Given the description of an element on the screen output the (x, y) to click on. 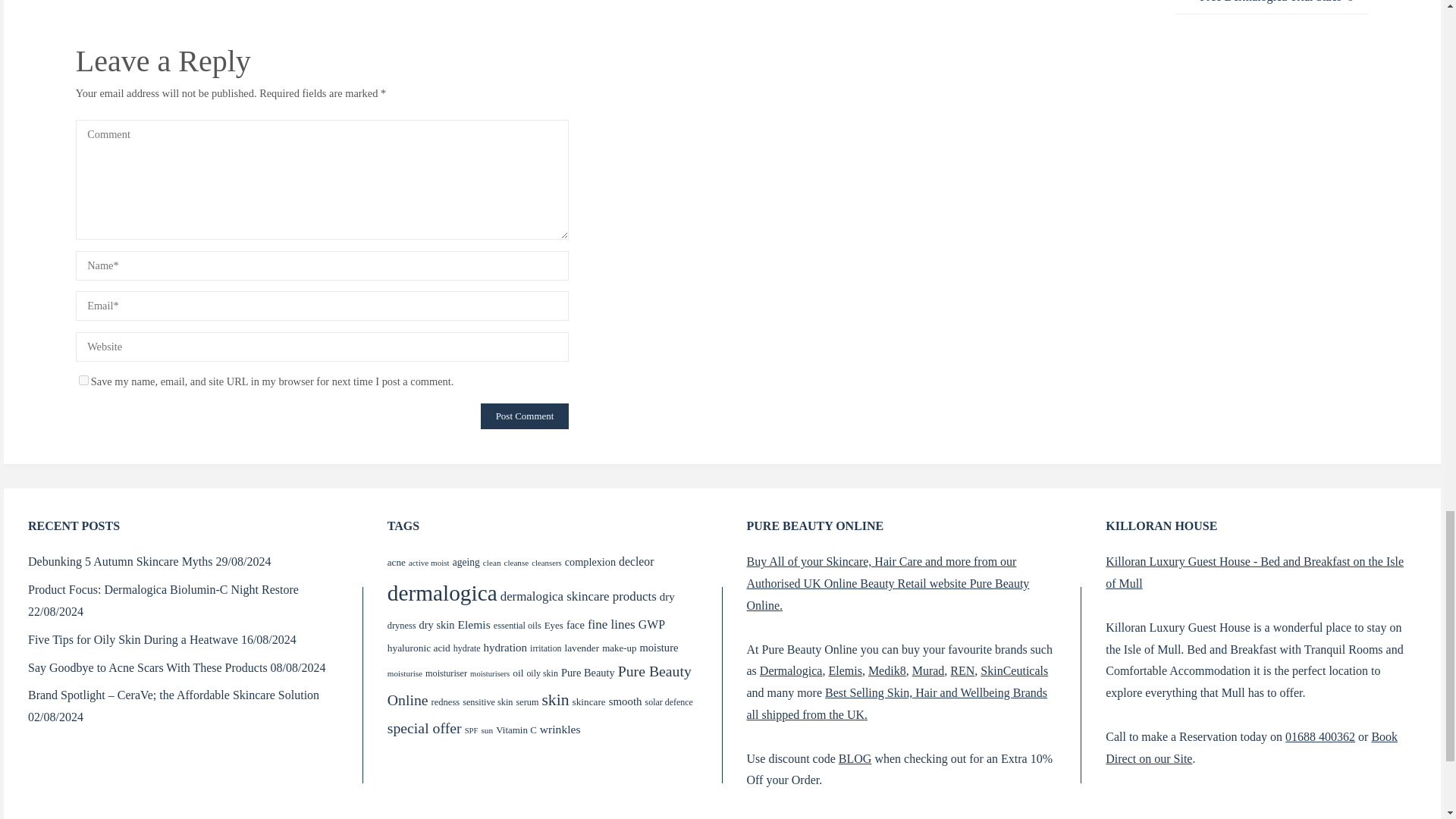
Post Comment (524, 416)
yes (83, 379)
Bed and Breakfast at Killoran Luxury Guest House (1254, 572)
